Given the description of an element on the screen output the (x, y) to click on. 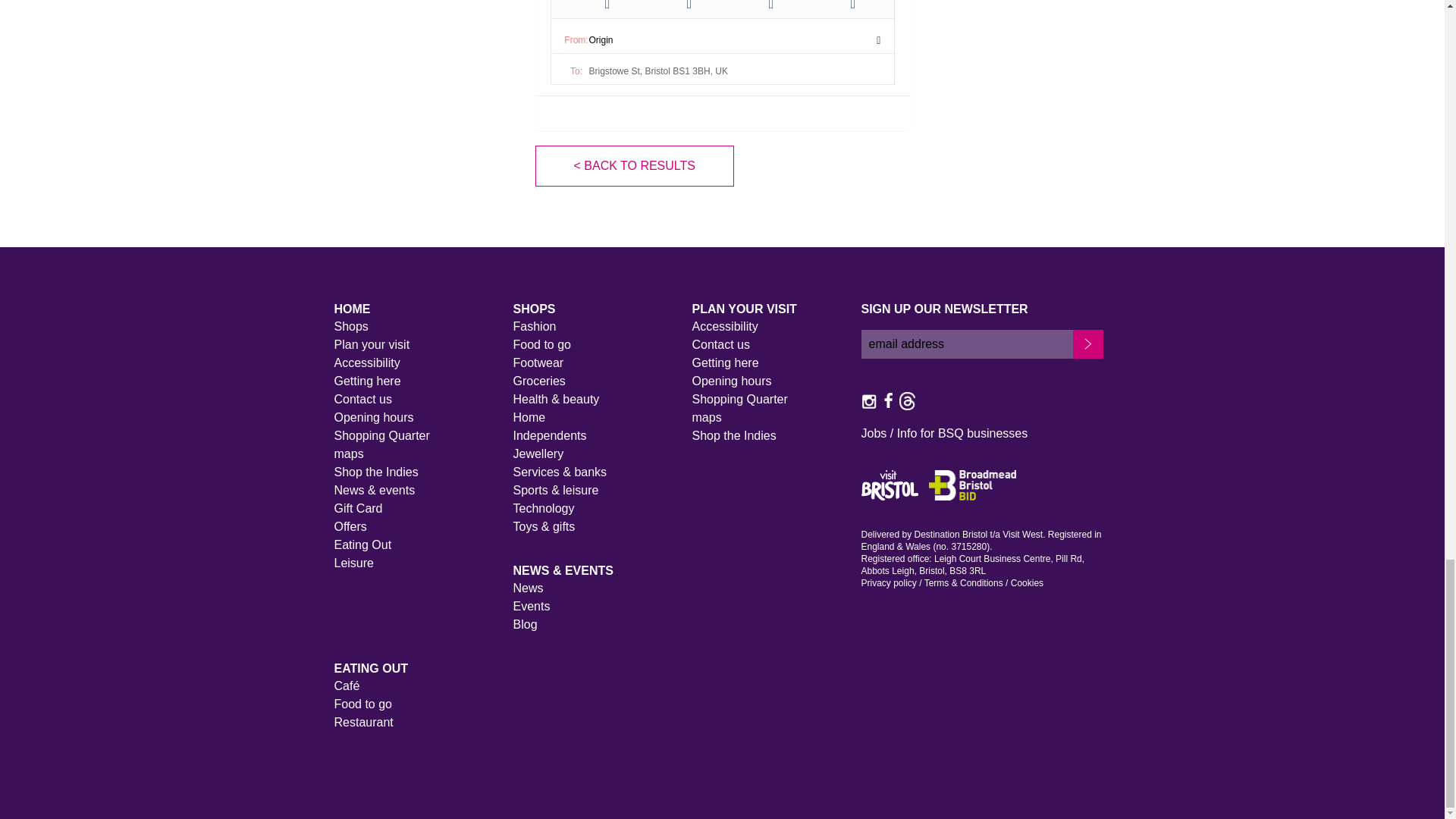
Walking (688, 5)
Transit (852, 5)
Bicycling (770, 5)
Driving (605, 5)
